Given the description of an element on the screen output the (x, y) to click on. 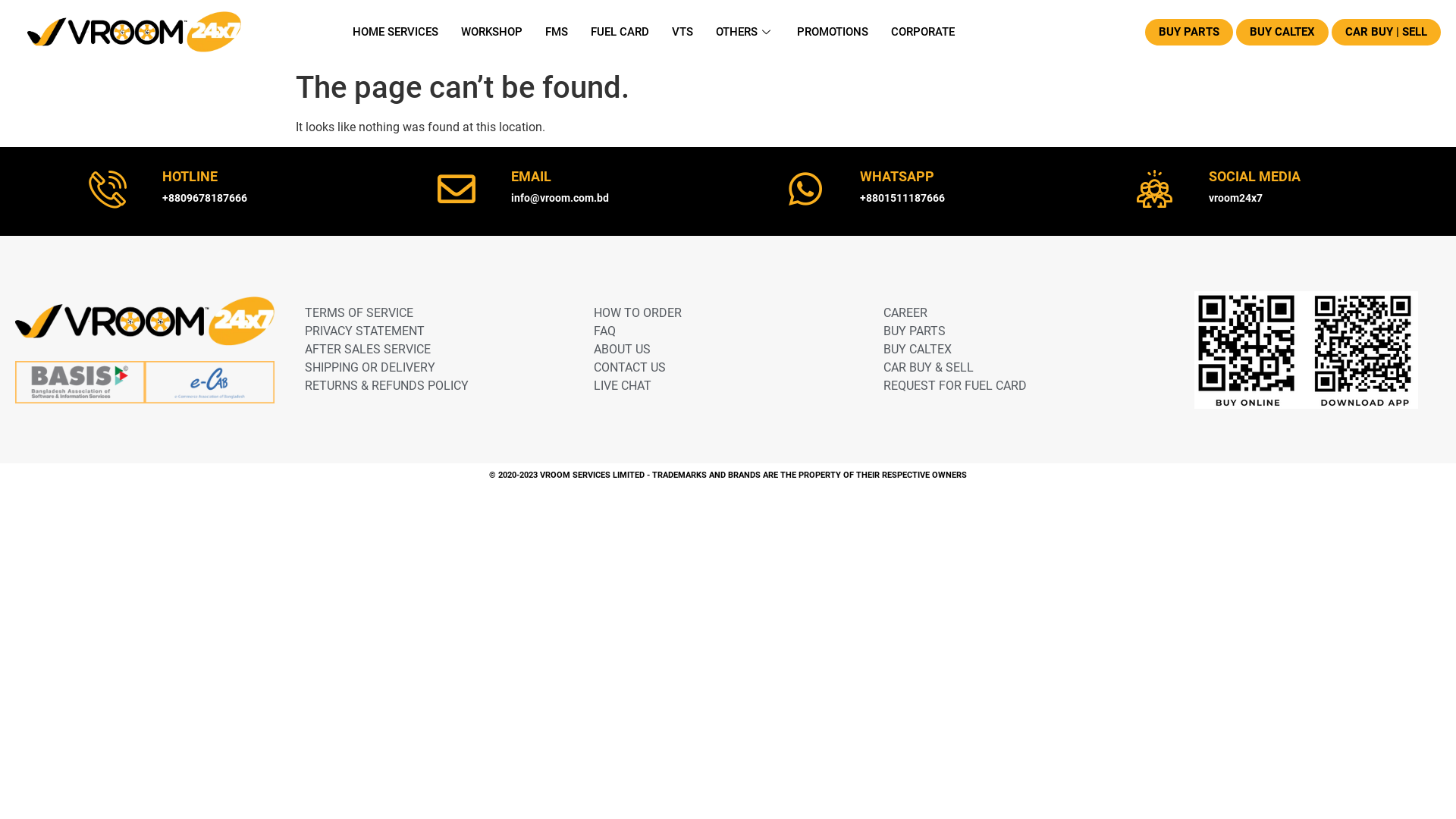
FAQ Element type: text (715, 331)
BUY CALTEX Element type: text (1282, 31)
SHIPPING OR DELIVERY Element type: text (426, 367)
BUY PARTS Element type: text (1189, 31)
LIVE CHAT Element type: text (715, 385)
AFTER SALES SERVICE Element type: text (426, 349)
BUY PARTS Element type: text (1004, 331)
TERMS OF SERVICE Element type: text (426, 313)
CAR BUY & SELL Element type: text (1004, 367)
BUY CALTEX Element type: text (1004, 349)
ABOUT US Element type: text (715, 349)
CAREER Element type: text (1004, 313)
RETURNS & REFUNDS POLICY Element type: text (426, 385)
HOW TO ORDER Element type: text (715, 313)
PROMOTIONS Element type: text (832, 31)
CAR BUY | SELL Element type: text (1385, 31)
CORPORATE Element type: text (922, 31)
FUEL CARD Element type: text (619, 31)
CONTACT US Element type: text (715, 367)
PRIVACY STATEMENT Element type: text (426, 331)
REQUEST FOR FUEL CARD Element type: text (1004, 385)
FMS Element type: text (556, 31)
WORKSHOP Element type: text (491, 31)
VTS Element type: text (682, 31)
OTHERS Element type: text (744, 31)
HOME SERVICES Element type: text (395, 31)
